Given the description of an element on the screen output the (x, y) to click on. 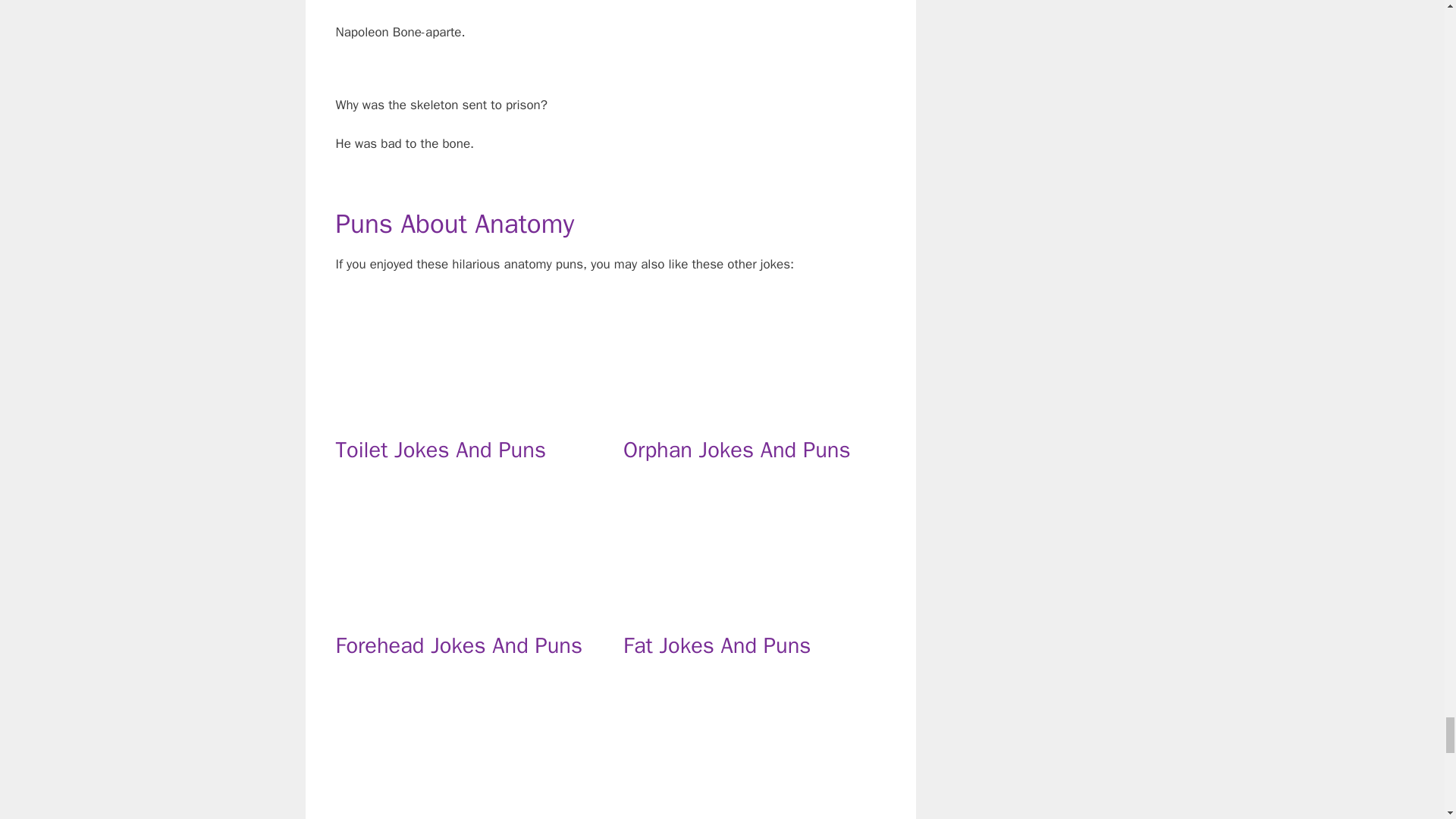
Forehead Jokes And Puns (465, 610)
Fat Jokes And Puns (716, 645)
Orphan Jokes And Puns (754, 414)
Orphan Jokes And Puns (736, 449)
Toilet Jokes And Puns (465, 414)
Fat Jokes And Puns (754, 610)
Toilet Jokes And Puns (439, 449)
Electricity Jokes And Puns (754, 806)
Diarrhea Jokes And Puns (465, 806)
Forehead Jokes And Puns (458, 645)
